Given the description of an element on the screen output the (x, y) to click on. 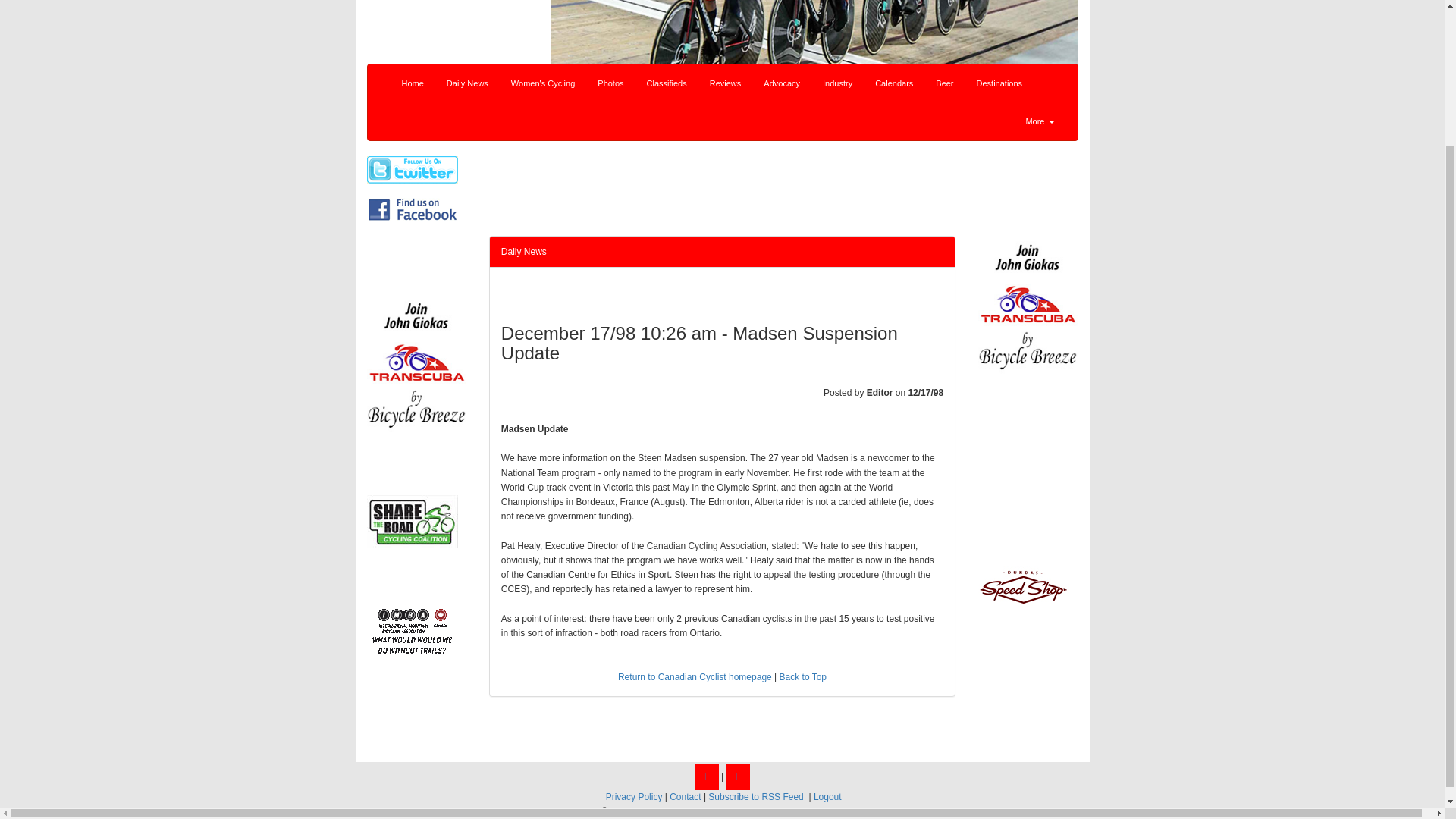
Daily News (523, 251)
Privacy Policy (633, 796)
Reviews (725, 83)
Classifieds (666, 83)
Return to Canadian Cyclist homepage (694, 676)
Destinations (999, 83)
Women's Cycling (542, 83)
Daily News (467, 83)
Home (411, 83)
Photos (610, 83)
Beer (943, 83)
Advocacy (781, 83)
Industry (836, 83)
Contact (684, 796)
Back to Top (802, 676)
